Given the description of an element on the screen output the (x, y) to click on. 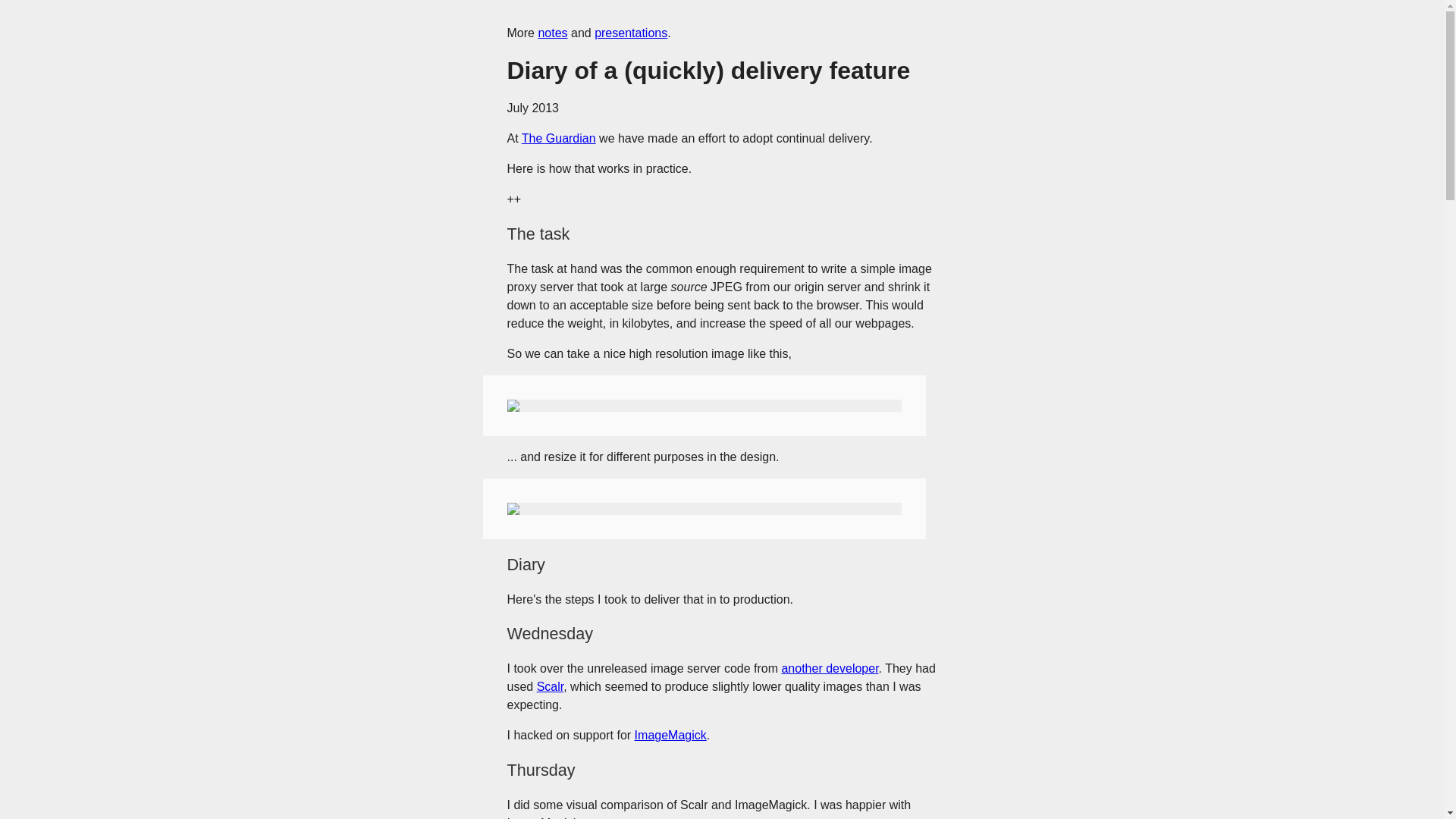
notes (552, 32)
The Guardian (558, 137)
ImageMagick (670, 735)
presentations (630, 32)
Scalr (550, 686)
another developer (828, 667)
